Given the description of an element on the screen output the (x, y) to click on. 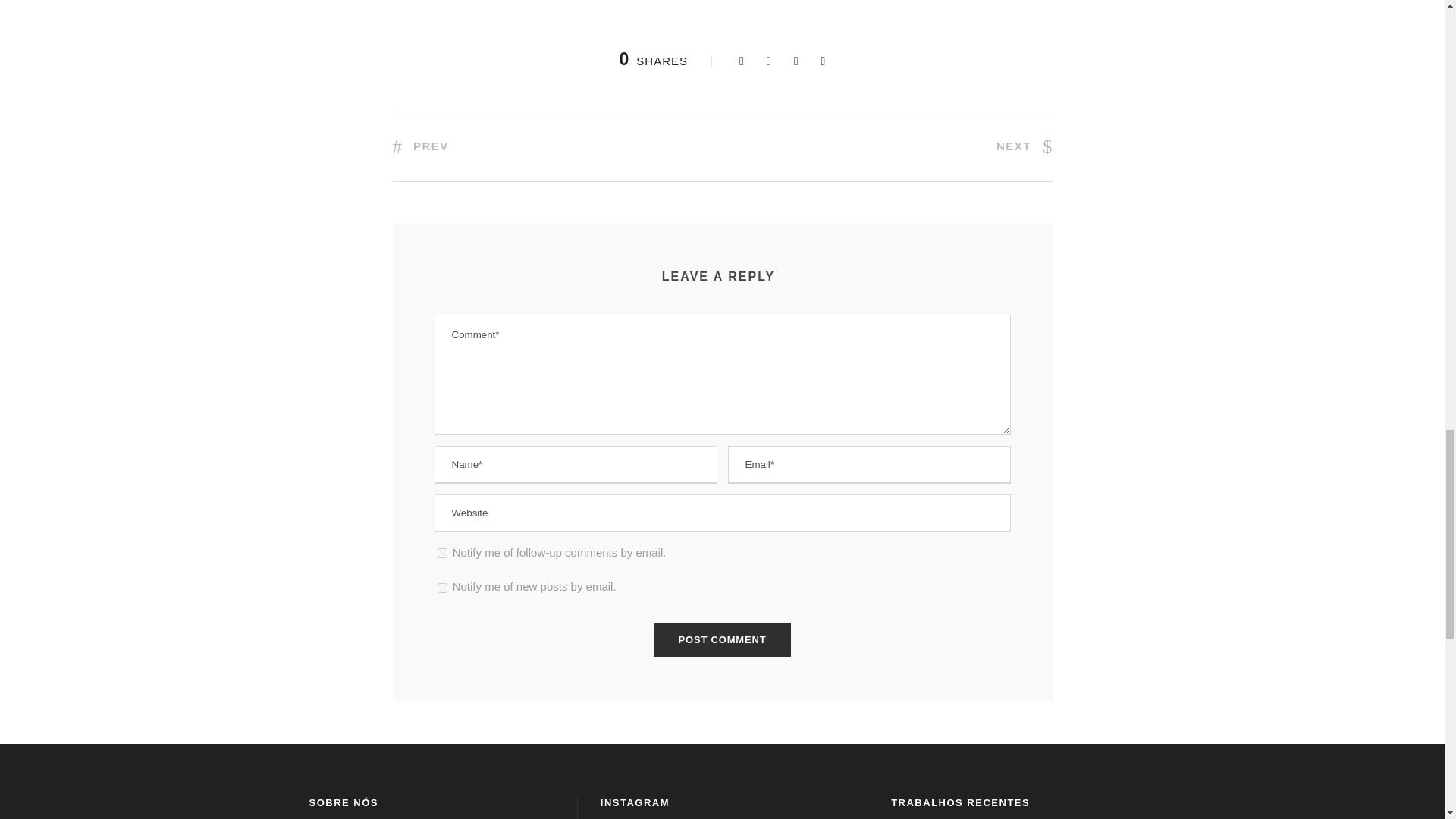
Post Comment (722, 639)
Post Comment (722, 639)
PREV (420, 145)
subscribe (441, 552)
NEXT (1023, 145)
subscribe (441, 587)
